Given the description of an element on the screen output the (x, y) to click on. 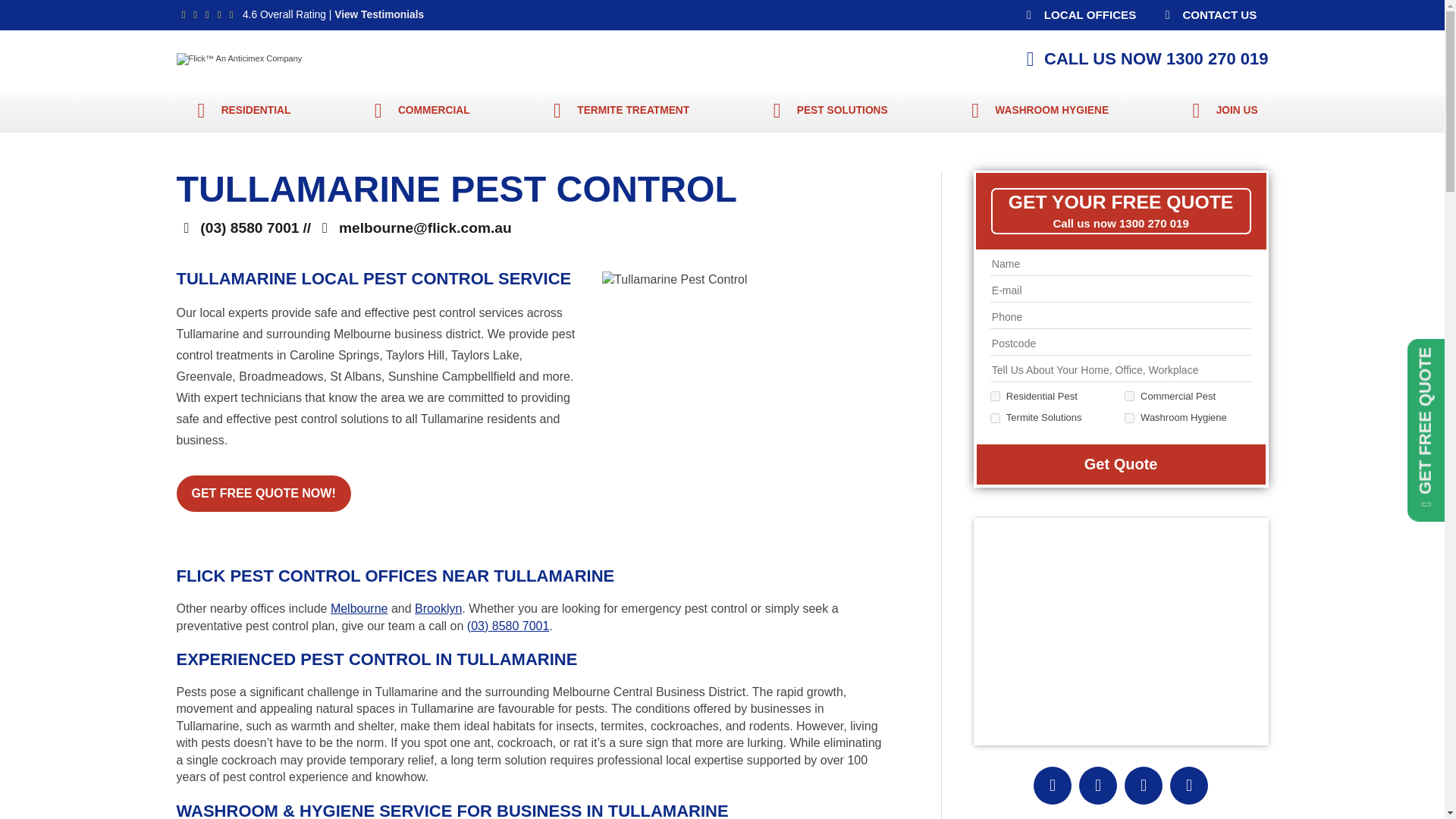
Termite Solutions (995, 418)
Residential Pest Control (238, 110)
CALL US NOW 1300 270 019 (1142, 59)
Contact us today! (1207, 15)
CONTACT US (1207, 15)
Commercial Pest (1129, 396)
LOCAL OFFICES (1078, 15)
Commercial Pest Control (416, 110)
COMMERCIAL (416, 110)
Residential Pest (995, 396)
